Given the description of an element on the screen output the (x, y) to click on. 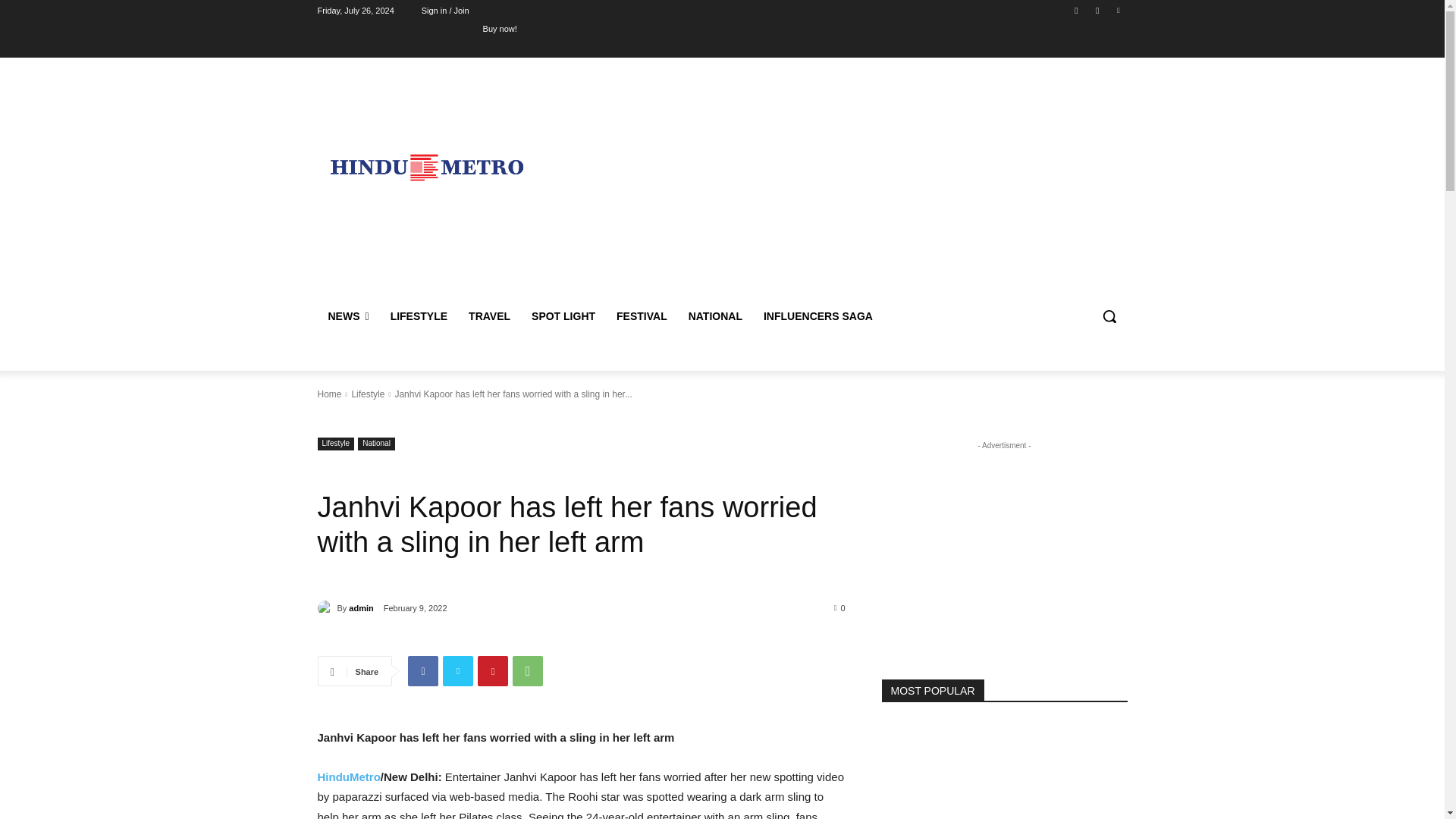
Instagram (1097, 9)
Buy now! (499, 28)
Facebook (1075, 9)
Twitter (1117, 9)
NEWS (347, 316)
